Given the description of an element on the screen output the (x, y) to click on. 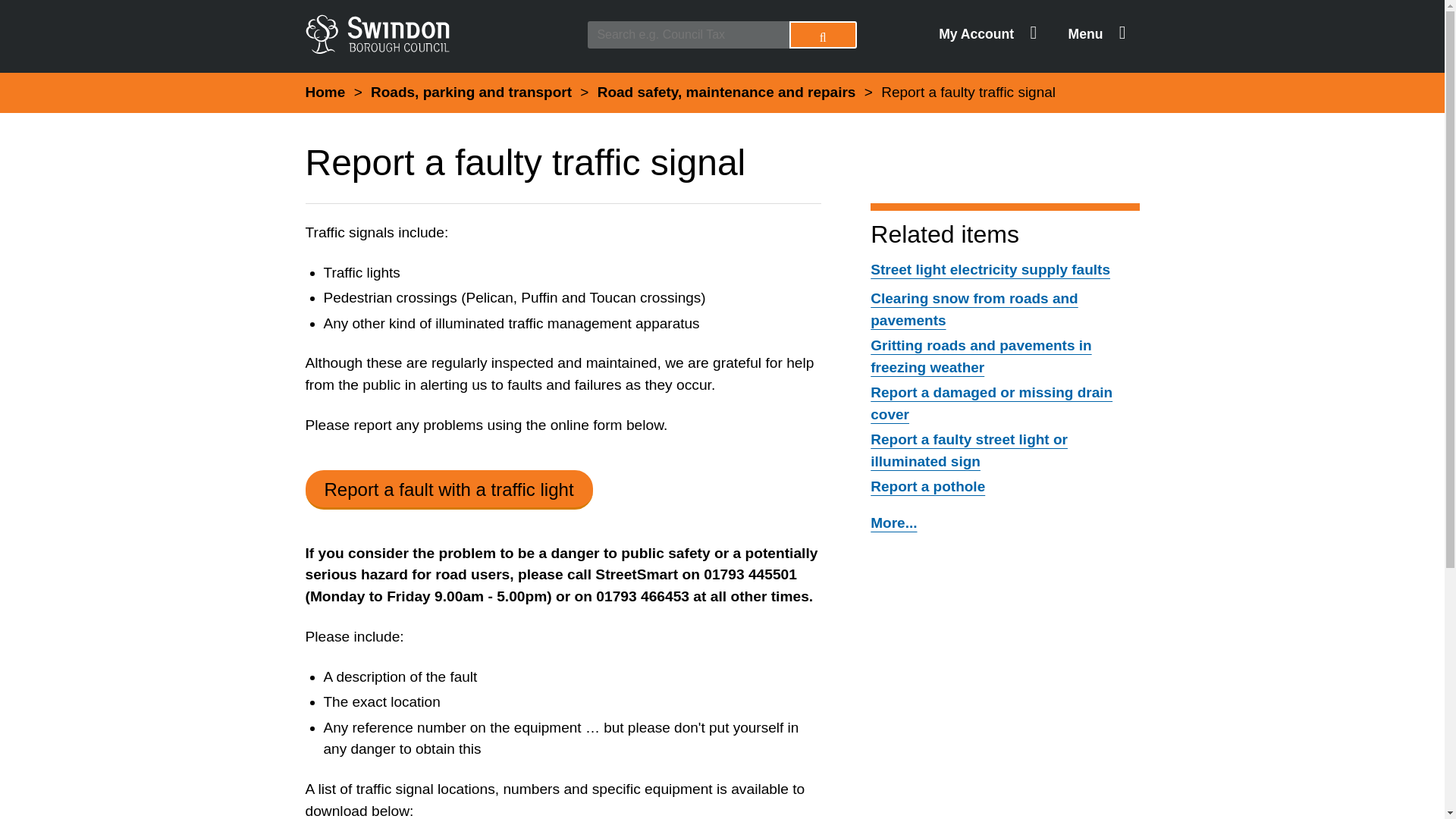
Gritting roads and pavements in freezing weather (980, 356)
Report a pothole (927, 486)
SWINDON.GOV.UK (438, 33)
Report a faulty street light or illuminated sign (968, 450)
Search (823, 34)
Street light electricity supply faults (989, 269)
My Account (986, 34)
Roads, parking and transport (471, 91)
Road safety, maintenance and repairs (726, 91)
Menu (1097, 34)
